Given the description of an element on the screen output the (x, y) to click on. 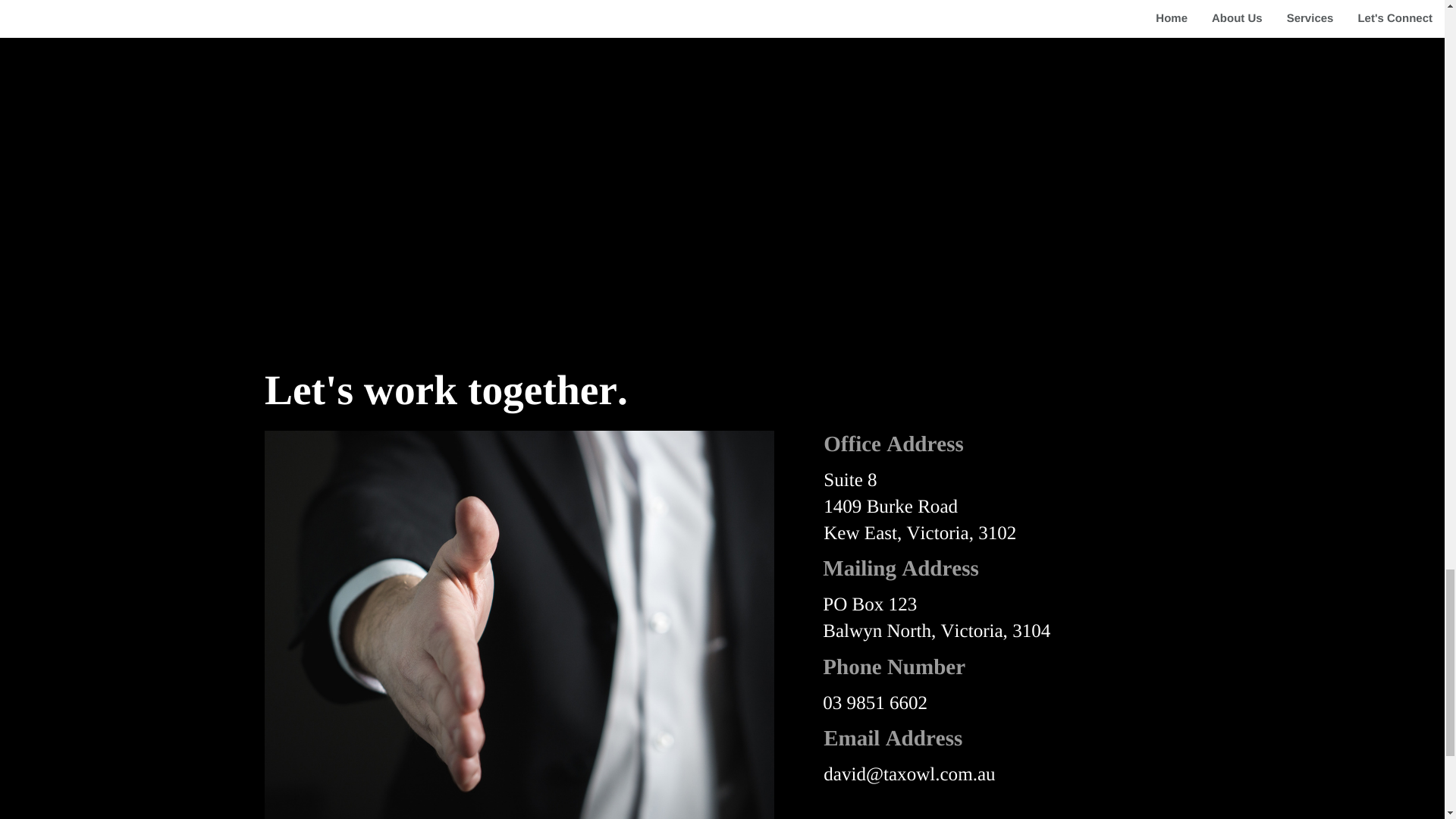
03 9851 6602 (874, 702)
